Given the description of an element on the screen output the (x, y) to click on. 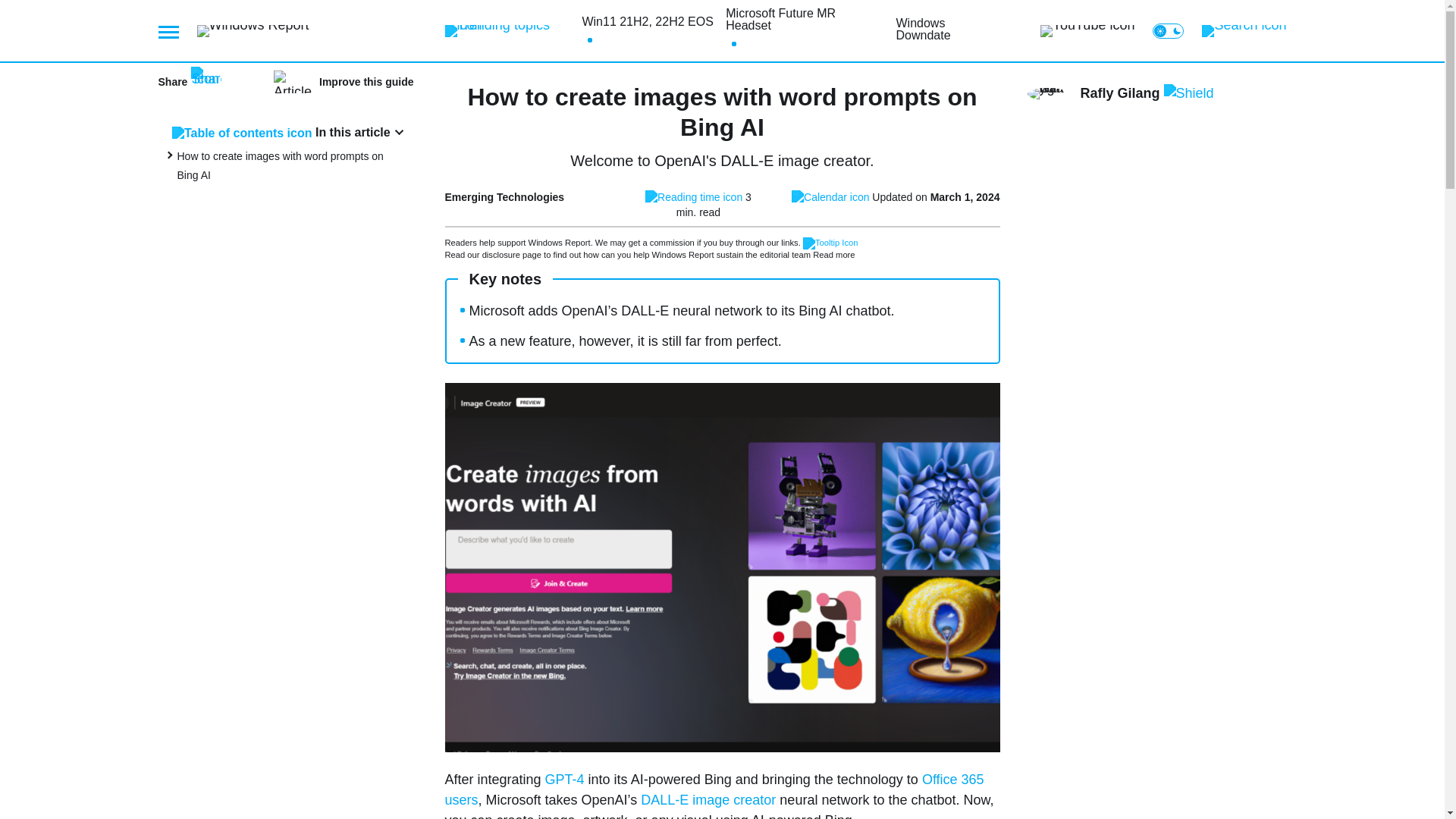
Open search bar (1243, 30)
How to create images with word prompts on Bing AI (280, 164)
Share (189, 81)
Share this article (189, 81)
Emerging Technologies (504, 196)
Windows Downdate (948, 29)
Win11 21H2, 22H2 EOS (646, 21)
Microsoft Future MR Headset (804, 19)
